Given the description of an element on the screen output the (x, y) to click on. 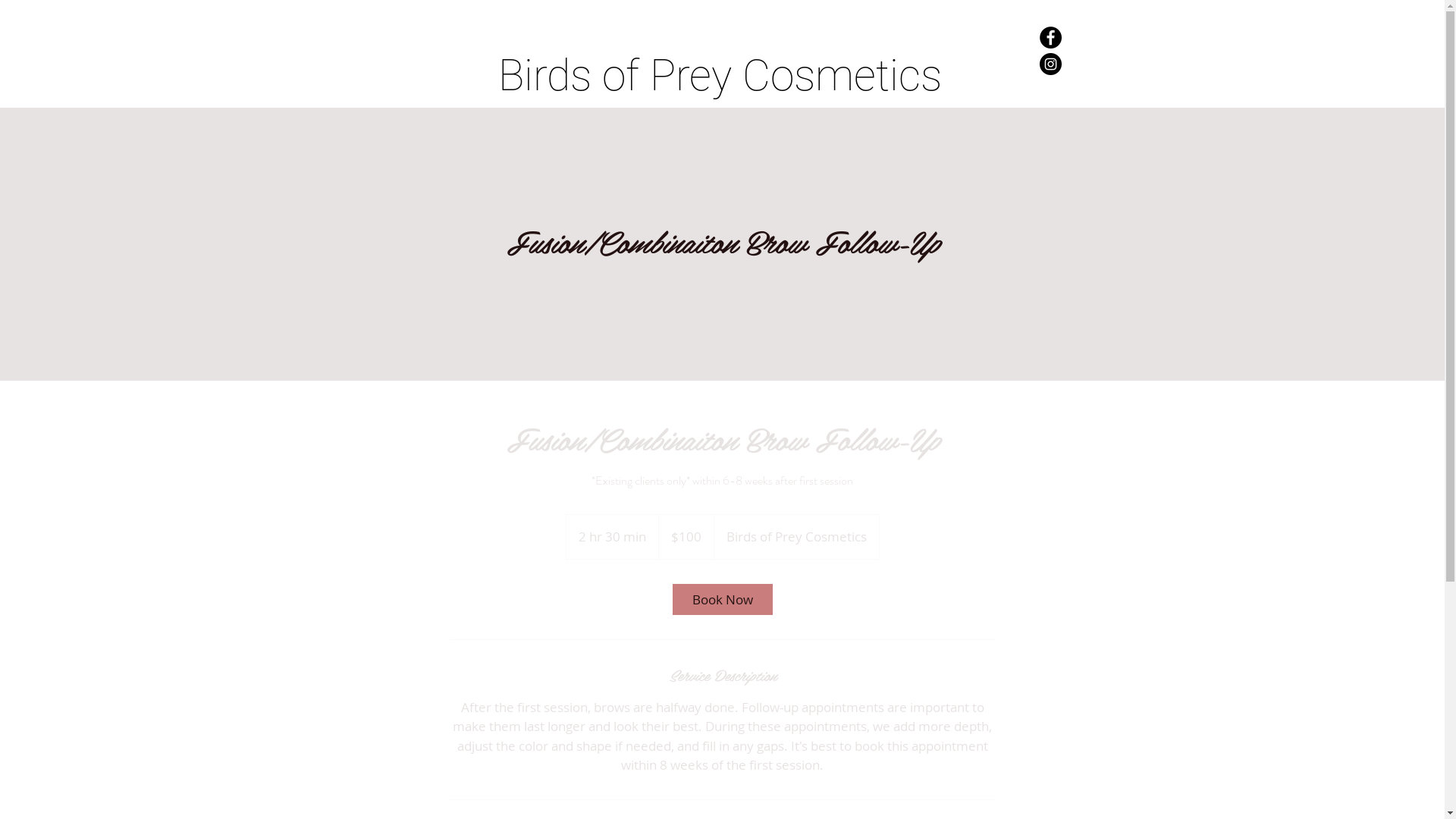
BOOK ONLINE Element type: text (832, 146)
CONTACT Element type: text (913, 146)
HOME Element type: text (550, 146)
SERVICES Element type: text (611, 146)
Book Now Element type: text (721, 599)
Birds of Prey Cosmetics Element type: text (719, 75)
EMAIL LIST Element type: text (750, 146)
POLICIES Element type: text (680, 146)
